Given the description of an element on the screen output the (x, y) to click on. 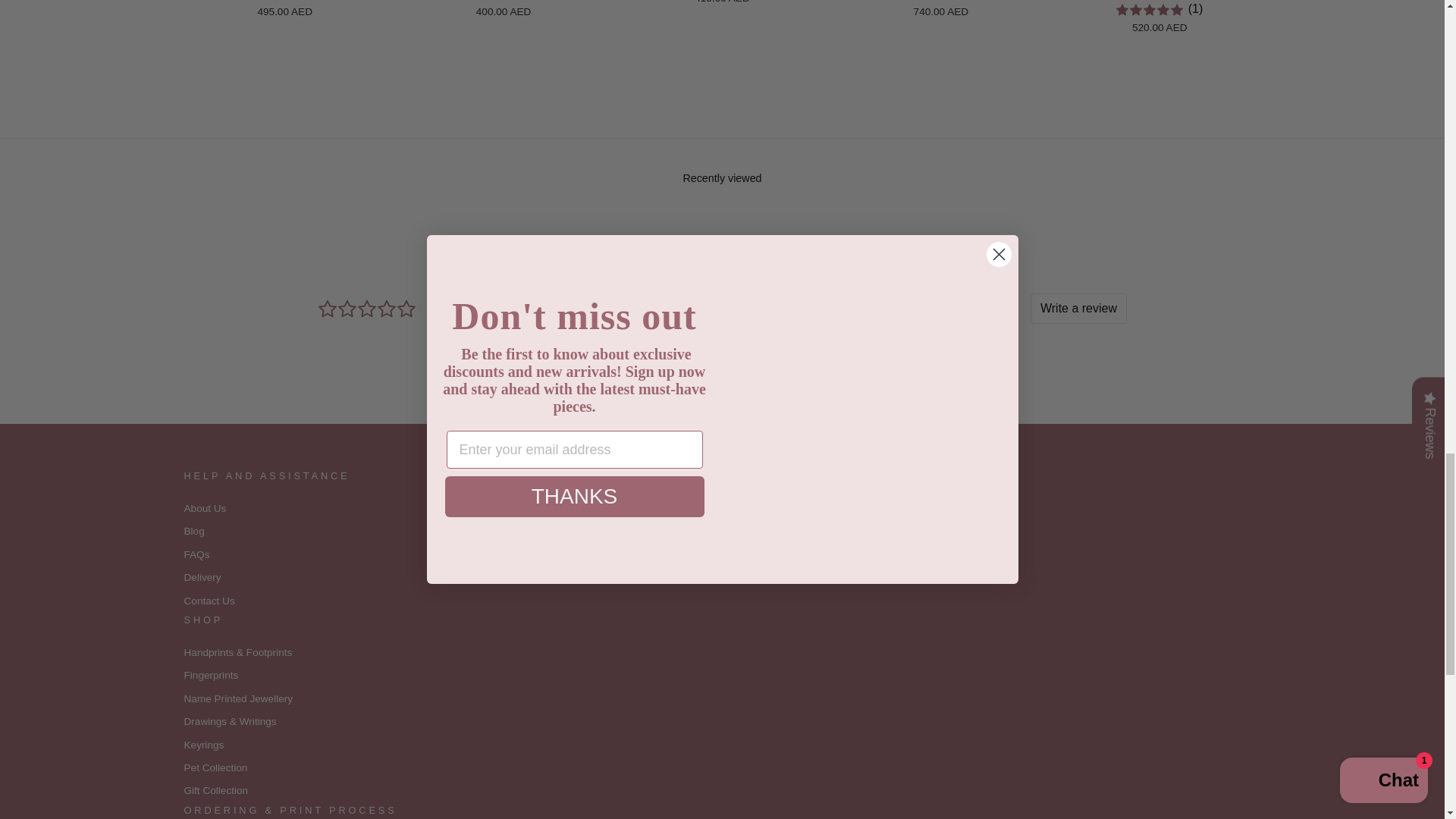
Product reviews widget (722, 322)
